Given the description of an element on the screen output the (x, y) to click on. 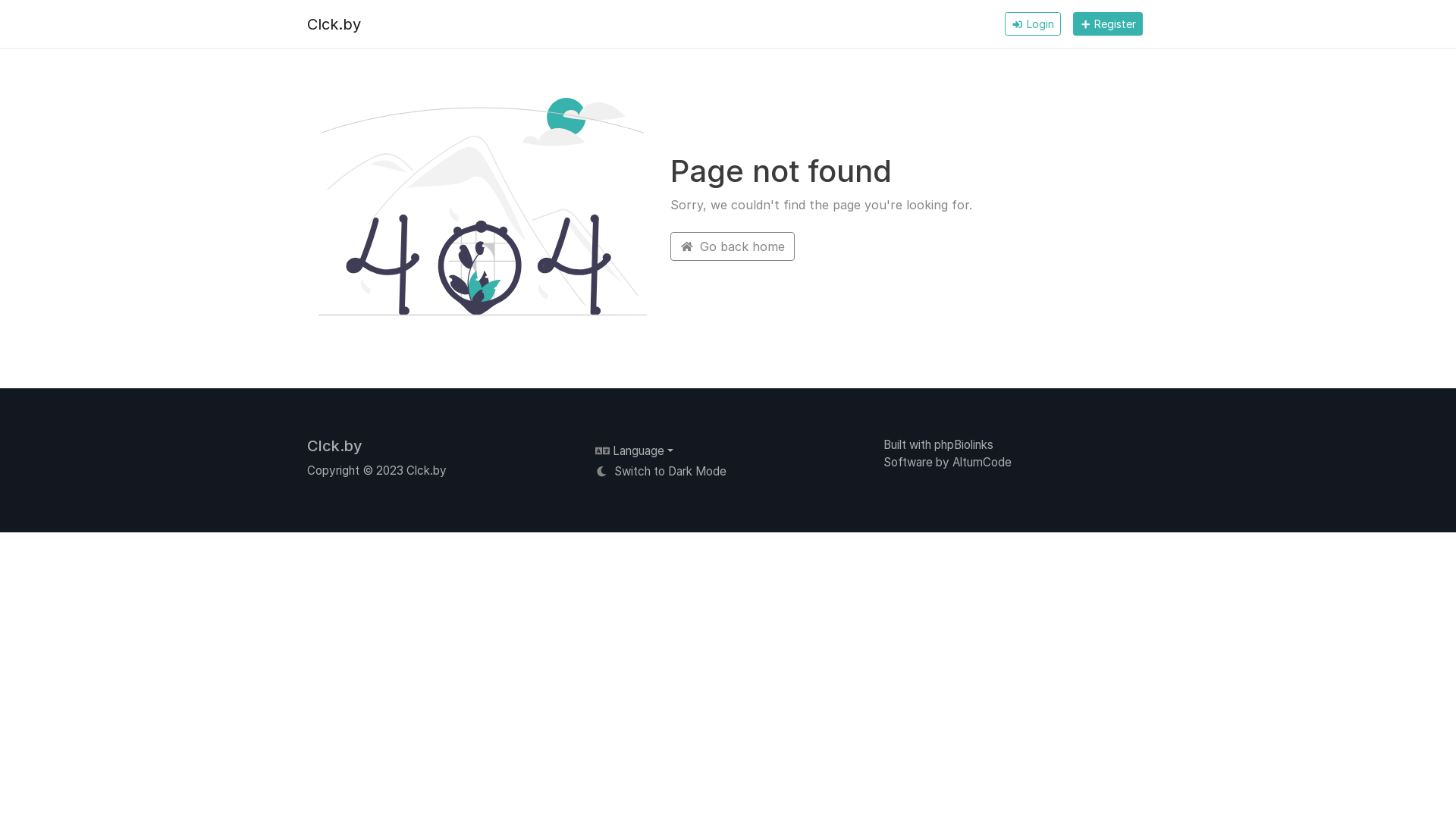
Switch to Dark Mode Element type: text (660, 471)
Language Element type: text (634, 450)
Go back home Element type: text (732, 246)
Software by AltumCode Element type: text (947, 462)
Built with phpBiolinks Element type: text (938, 444)
Register Element type: text (1107, 23)
Clck.by Element type: text (333, 24)
Login Element type: text (1032, 23)
Clck.by Element type: text (334, 445)
